Given the description of an element on the screen output the (x, y) to click on. 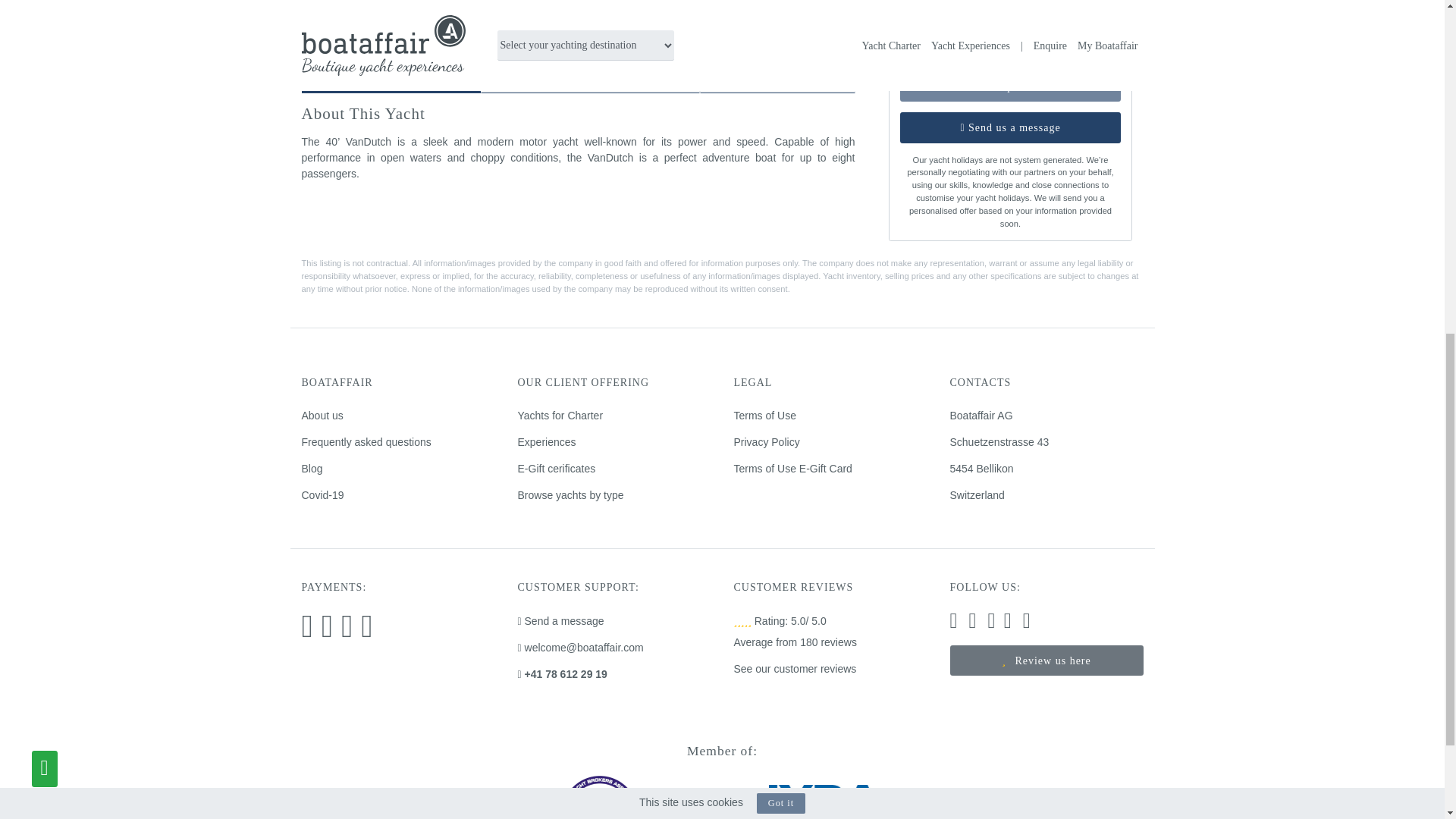
Enquire (1010, 86)
Follow us on Instagram (952, 623)
Follow us on Twitter (991, 623)
Send us a message (1010, 127)
About us (322, 415)
E-Gift cerificates (555, 468)
See our customer reviews (795, 668)
Charter Yacht Brokers Association (599, 811)
Watch us on Youtube (1026, 623)
Blog (312, 468)
22-07-2024 (956, 18)
Yachts for Charter (559, 415)
Covid-19 (322, 494)
Terms of Use E-Gift Card (792, 468)
Enquire (1010, 86)
